Given the description of an element on the screen output the (x, y) to click on. 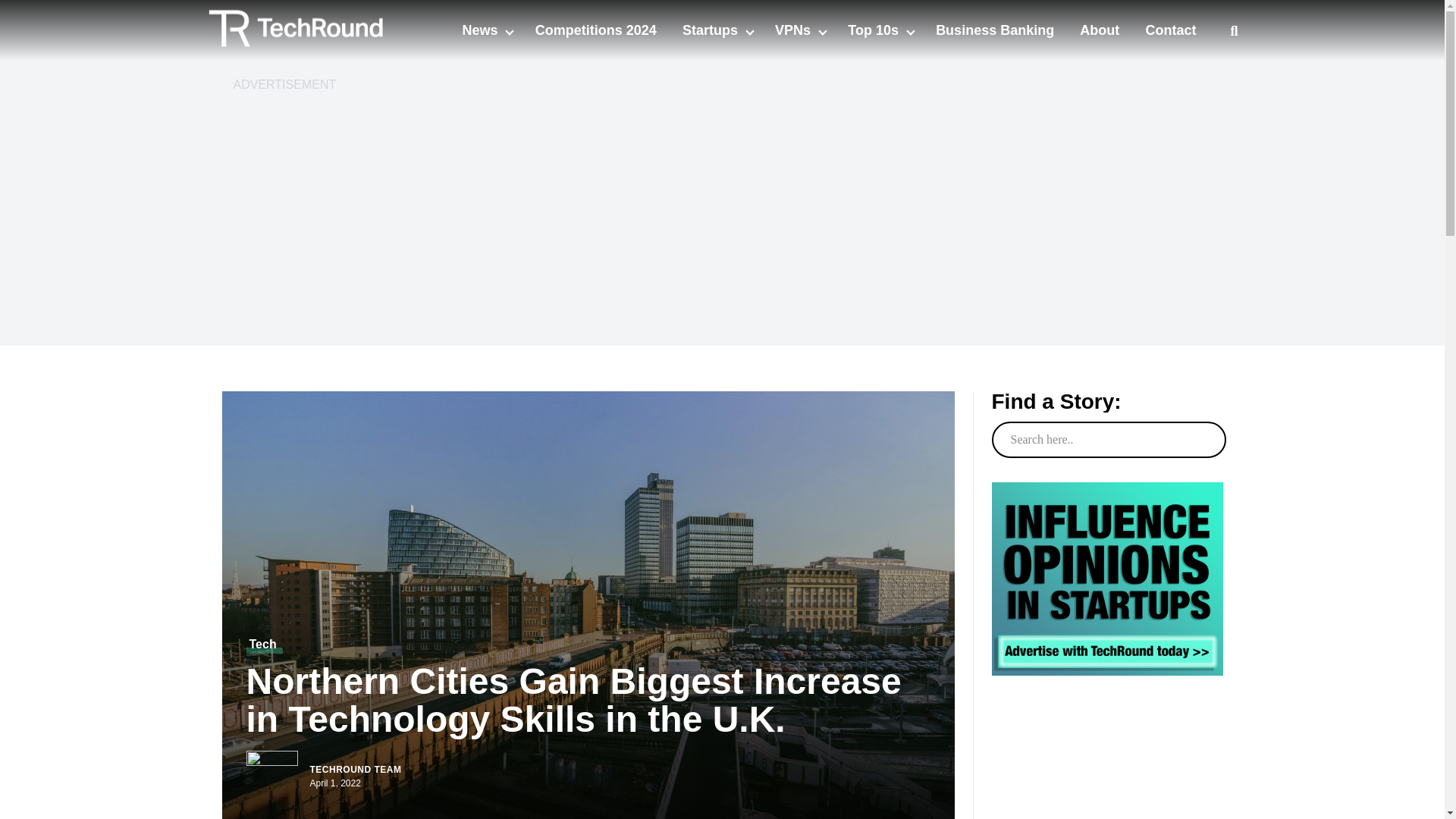
Competitions 2024 (596, 30)
News (480, 30)
Top 10s (874, 30)
Startups (711, 30)
VPNs (793, 30)
